Given the description of an element on the screen output the (x, y) to click on. 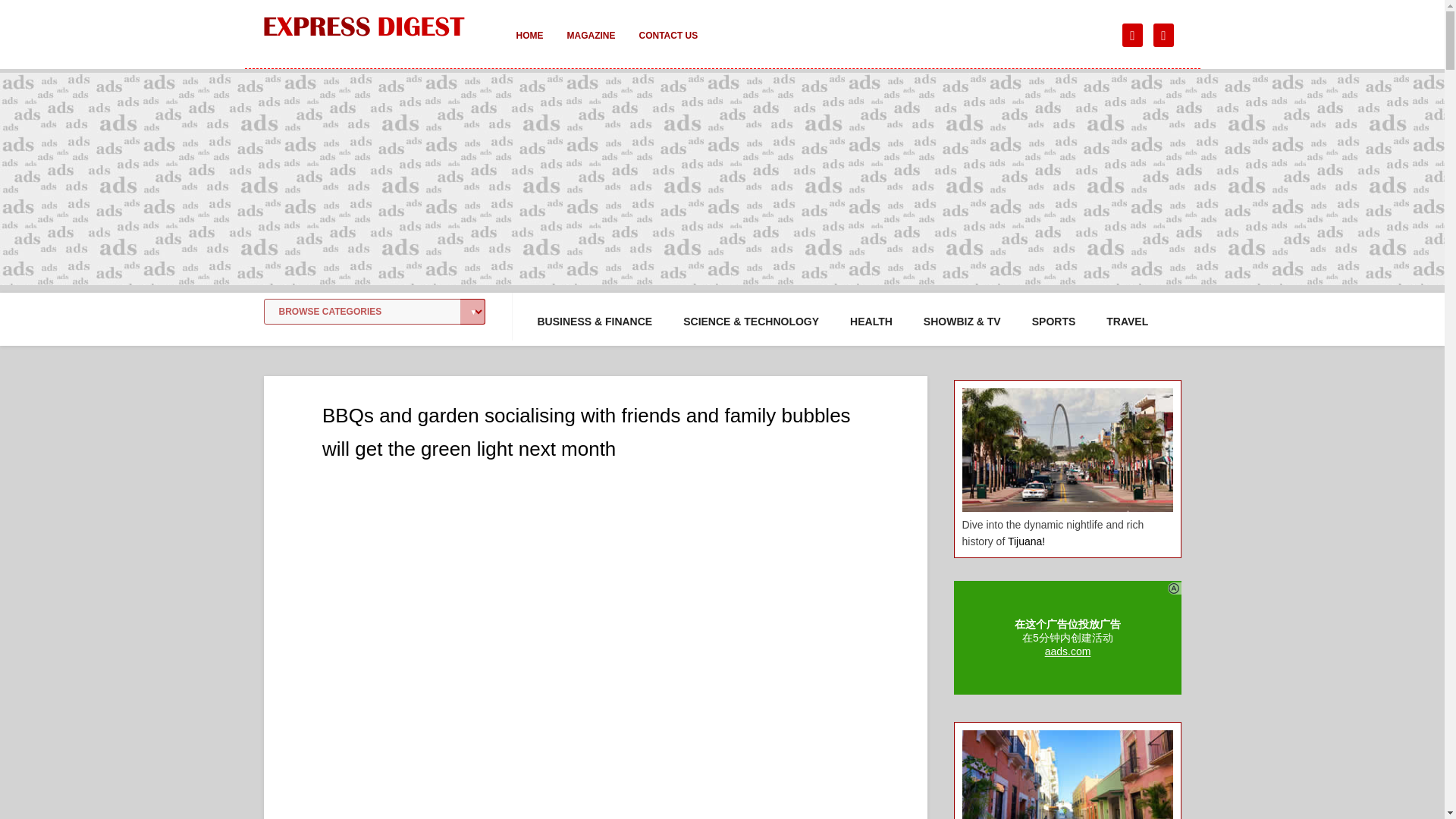
TRAVEL (1127, 321)
Tijuana! (1026, 541)
CONTACT US (667, 45)
HEALTH (871, 321)
SPORTS (1053, 321)
MAGAZINE (590, 45)
